Given the description of an element on the screen output the (x, y) to click on. 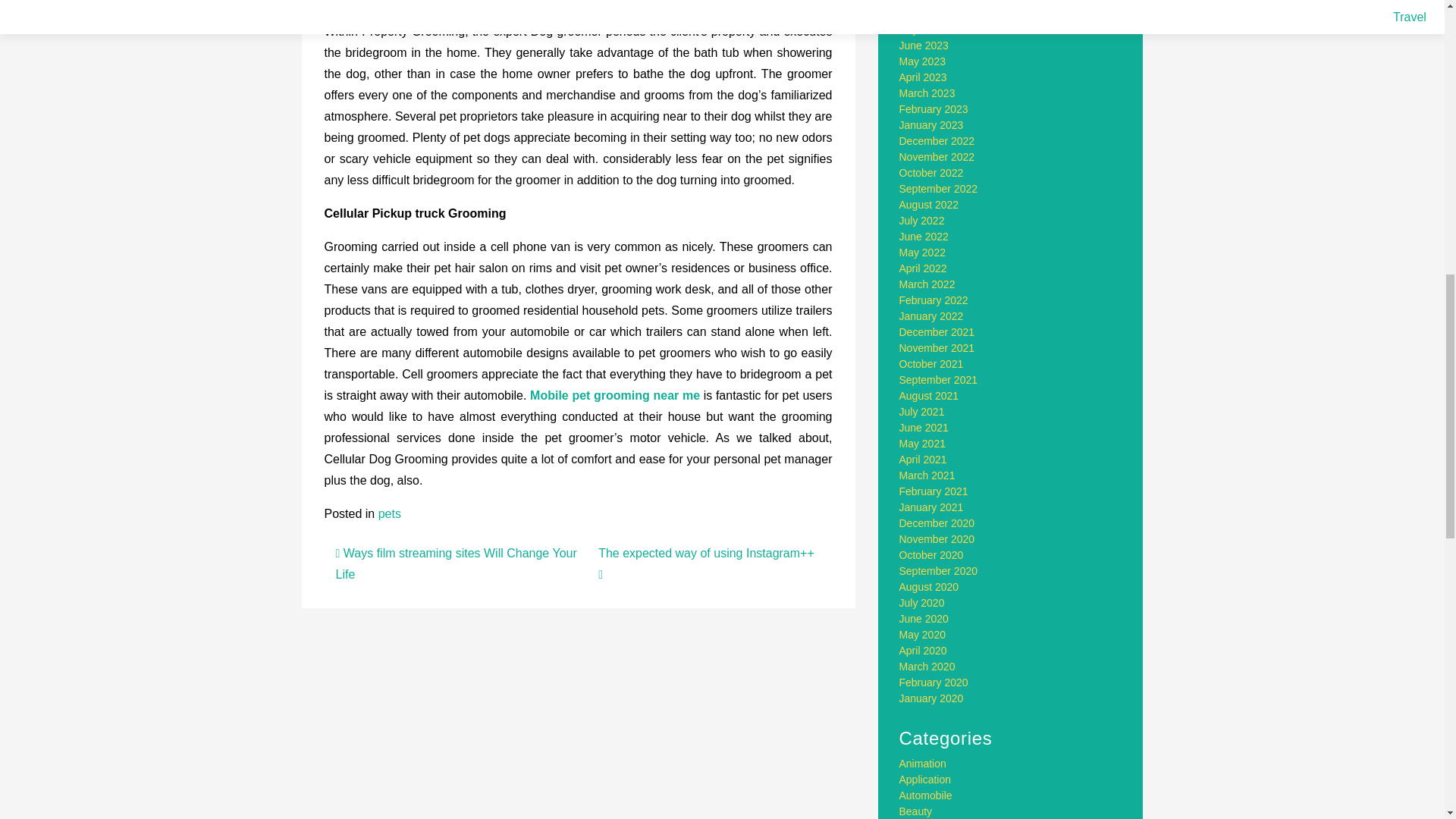
June 2023 (924, 45)
September 2023 (938, 2)
April 2023 (923, 77)
November 2022 (937, 156)
August 2022 (929, 204)
February 2023 (933, 109)
January 2023 (931, 124)
July 2023 (921, 29)
 Ways film streaming sites Will Change Your Life (455, 563)
August 2023 (929, 13)
